Given the description of an element on the screen output the (x, y) to click on. 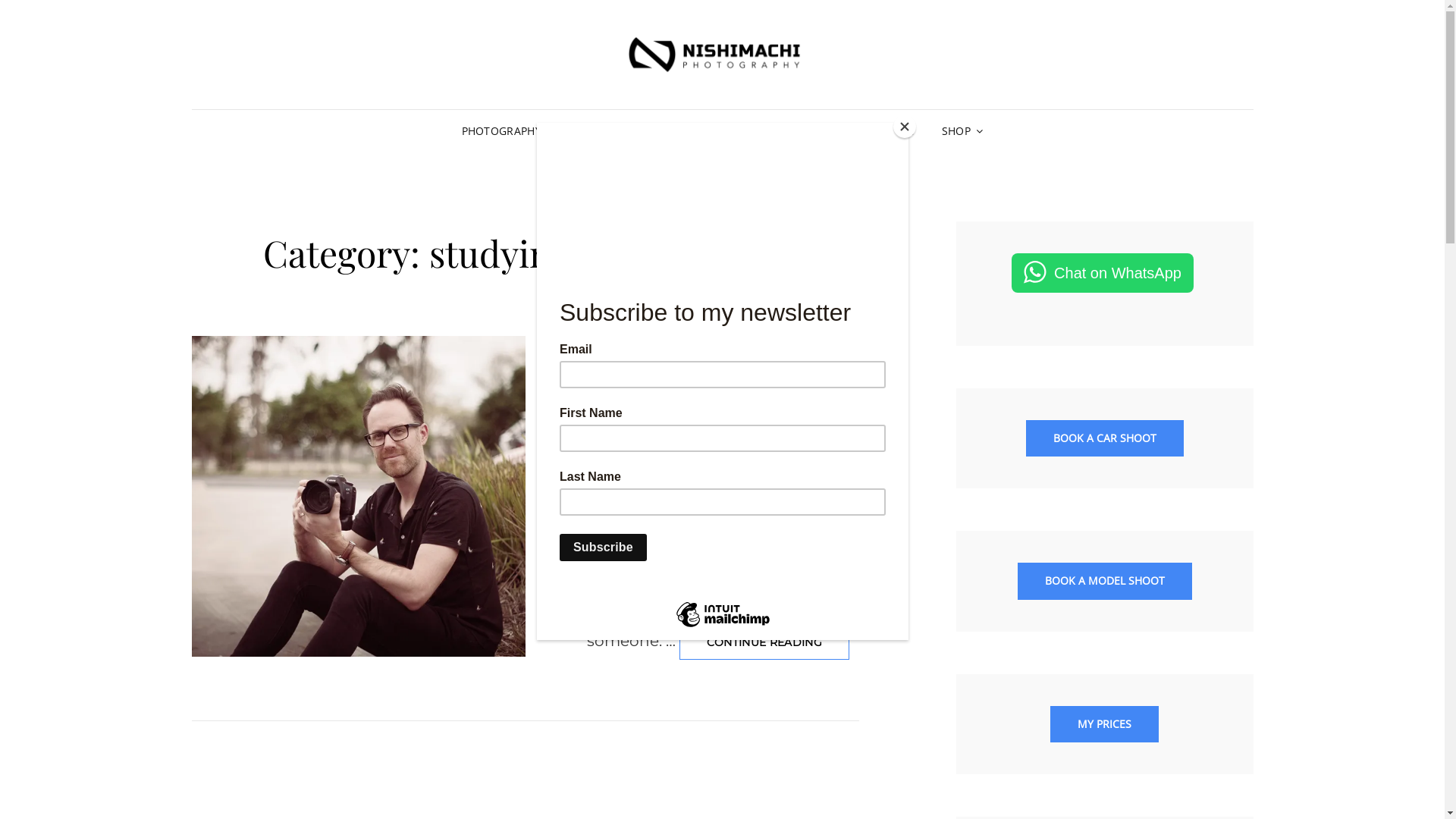
CONTINUE READING
3 WAYS TO LEARN PHOTOGRAPHY Element type: text (764, 642)
CONTACT Element type: text (658, 130)
PORTFOLIO Element type: text (742, 130)
NISHIMACHIPHOTOGRAPHY Element type: text (711, 410)
NISHIMACHI PHOTOGRAPHY Element type: text (1134, 97)
MY PRICES Element type: text (1104, 724)
Chat on WhatsApp Element type: text (1102, 272)
BOOK A MODEL SHOOT Element type: text (1104, 580)
PHOTOGRAPHY Element type: text (619, 345)
BLOG Element type: text (898, 130)
PHOTOGRAPHY SERVICES Element type: text (533, 130)
ABOUT ME Element type: text (827, 130)
SHOP Element type: text (961, 130)
BOOK A CAR SHOOT Element type: text (1104, 438)
26 JULY 2012 Element type: text (614, 410)
STUDYING PHOTOGRAPHY Element type: text (715, 345)
3 Ways to Learn Photography Element type: hover (357, 495)
3 Ways to Learn Photography Element type: text (714, 374)
